Given the description of an element on the screen output the (x, y) to click on. 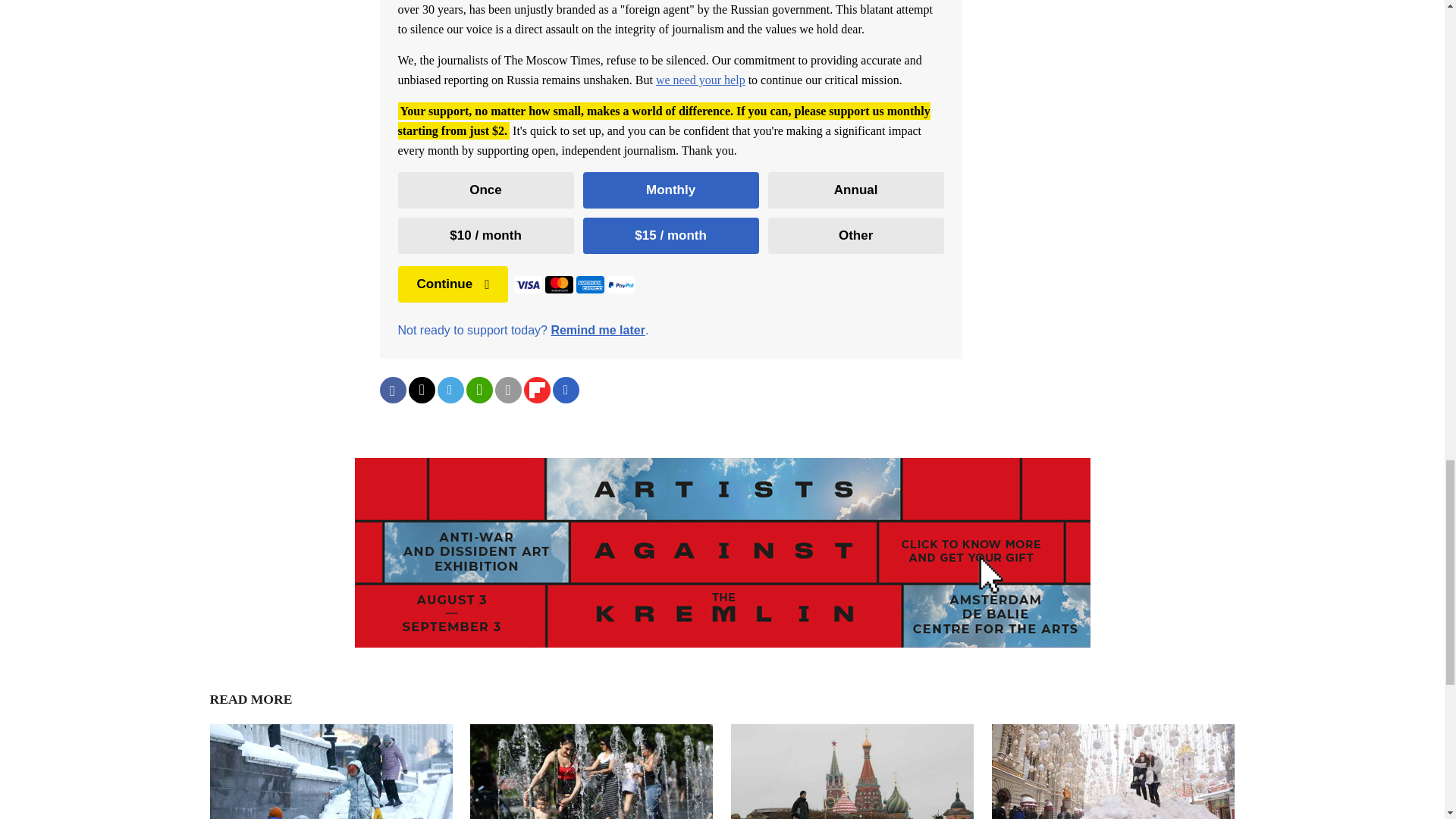
we need your help (700, 79)
Share on Telegram (449, 389)
Share on Facebook (392, 389)
Share on Twitter (420, 389)
